Given the description of an element on the screen output the (x, y) to click on. 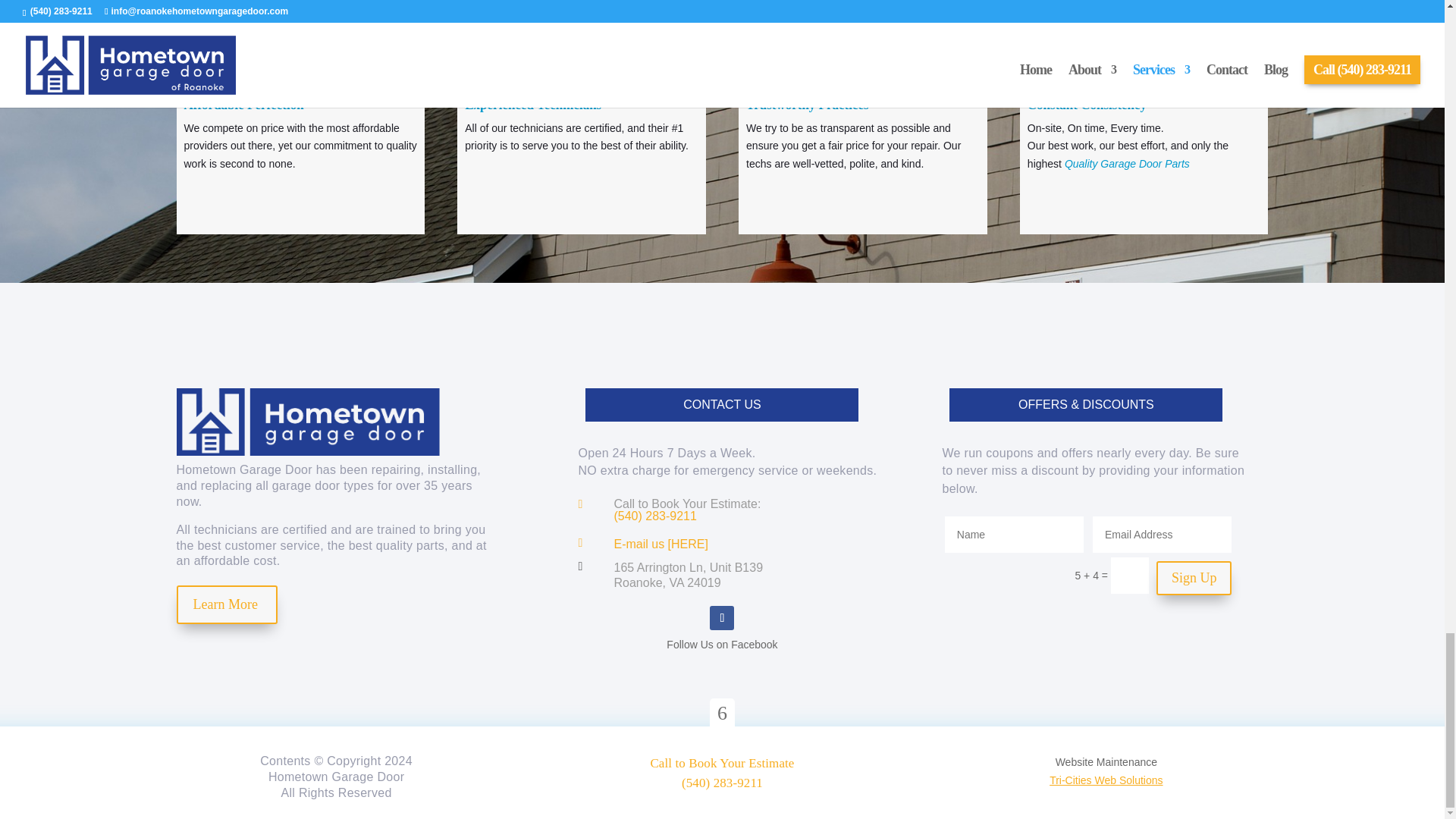
Learn More (226, 604)
Follow on Facebook (721, 617)
Call to Book Your Estimate (653, 515)
Quality Garage Door Parts (1126, 163)
Quality Garage Door Parts (1126, 163)
Email Us (659, 543)
